Given the description of an element on the screen output the (x, y) to click on. 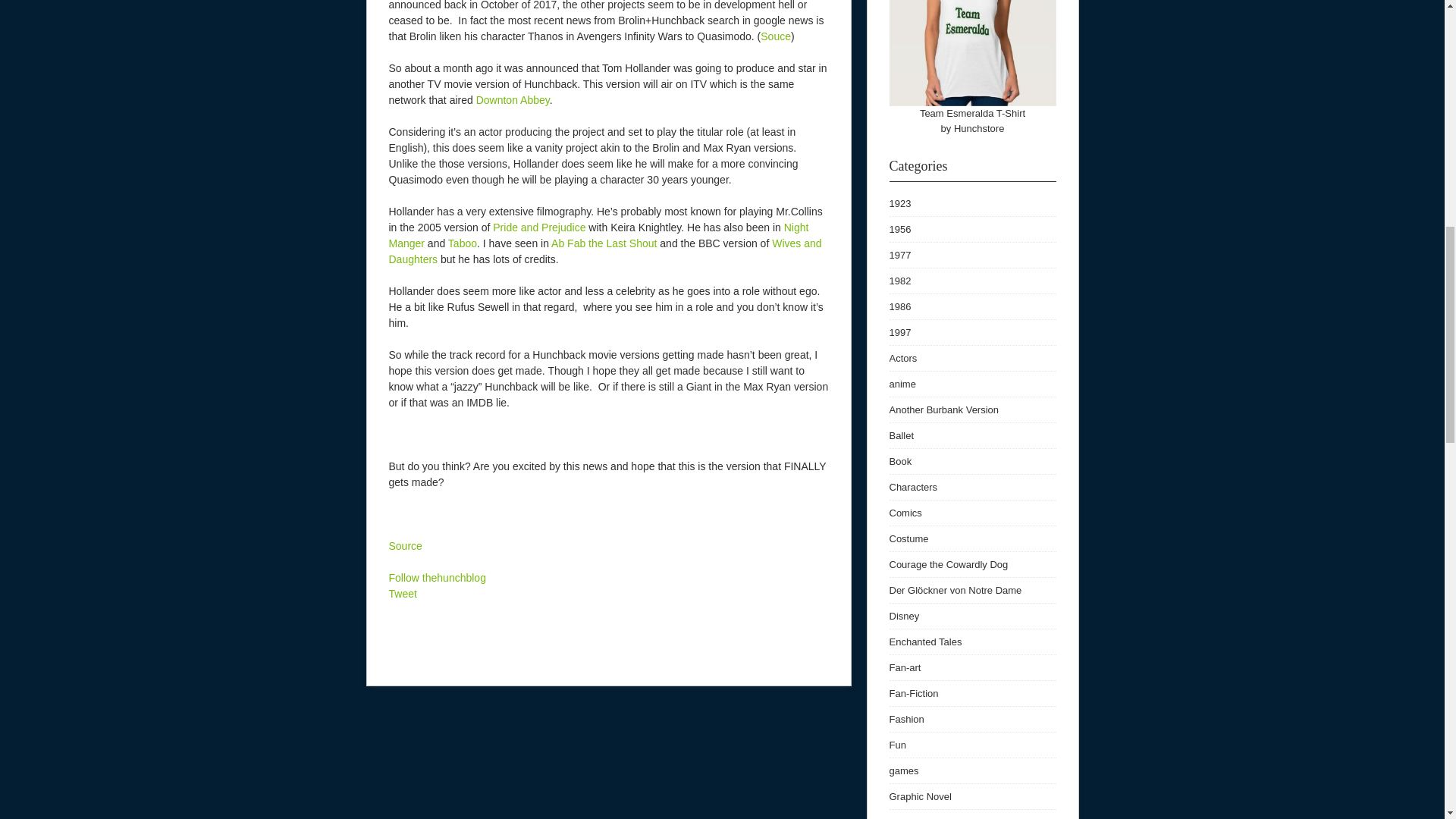
Tweet (402, 593)
Taboo (462, 243)
Wives and Daughters (604, 251)
Night Manger (598, 235)
Downton Abbey (513, 100)
1977 (899, 255)
1956 (899, 229)
Characters (912, 487)
Source (405, 545)
1986 (899, 306)
Ballet (901, 435)
Souce (775, 36)
Team Esmeralda T-Shirt (972, 112)
Costume (908, 538)
Pride and Prejudice (539, 227)
